Given the description of an element on the screen output the (x, y) to click on. 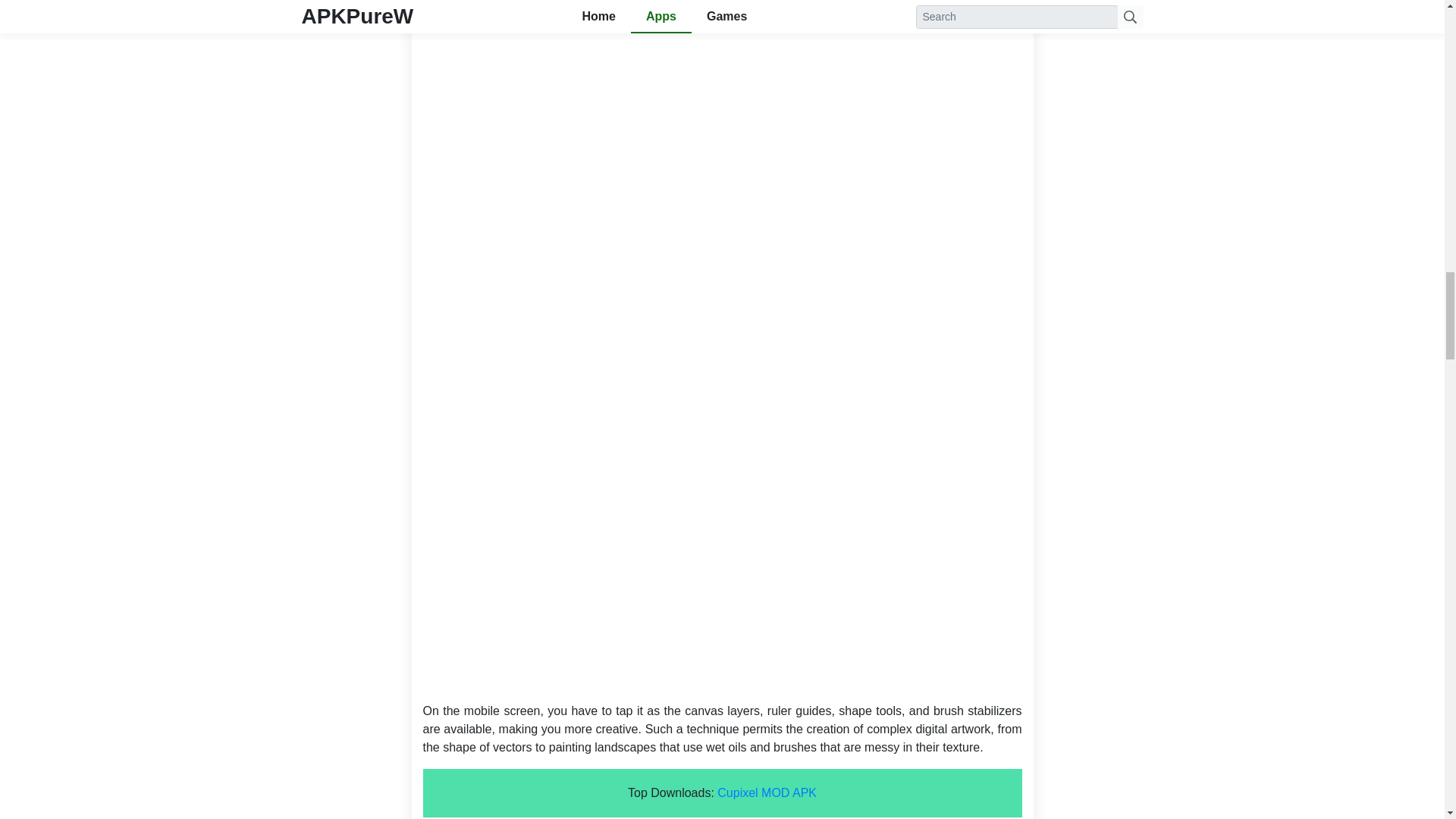
Cupixel MOD APK (766, 792)
